Given the description of an element on the screen output the (x, y) to click on. 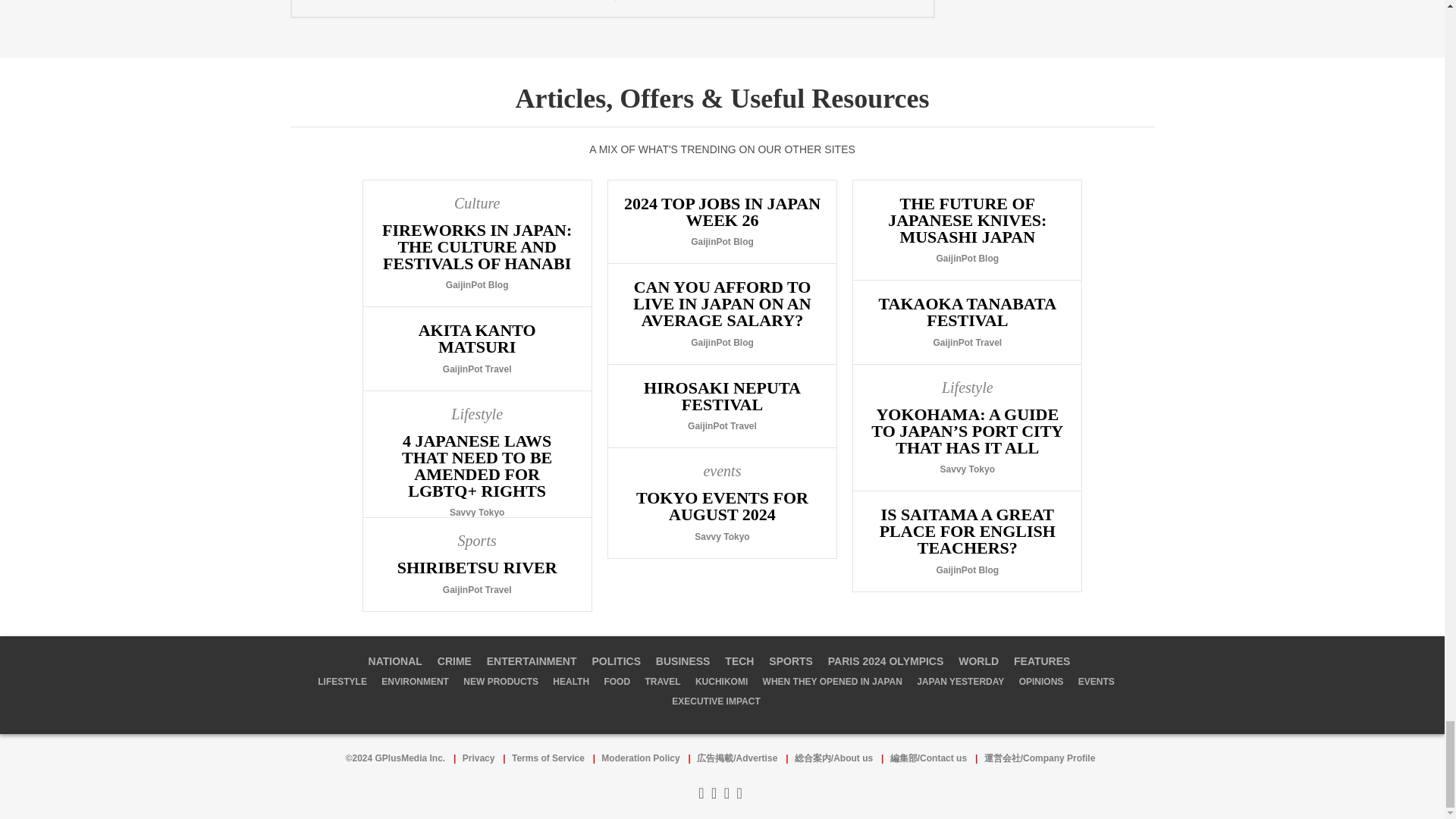
Fireworks In Japan: The Culture and Festivals of Hanabi (476, 243)
